Given the description of an element on the screen output the (x, y) to click on. 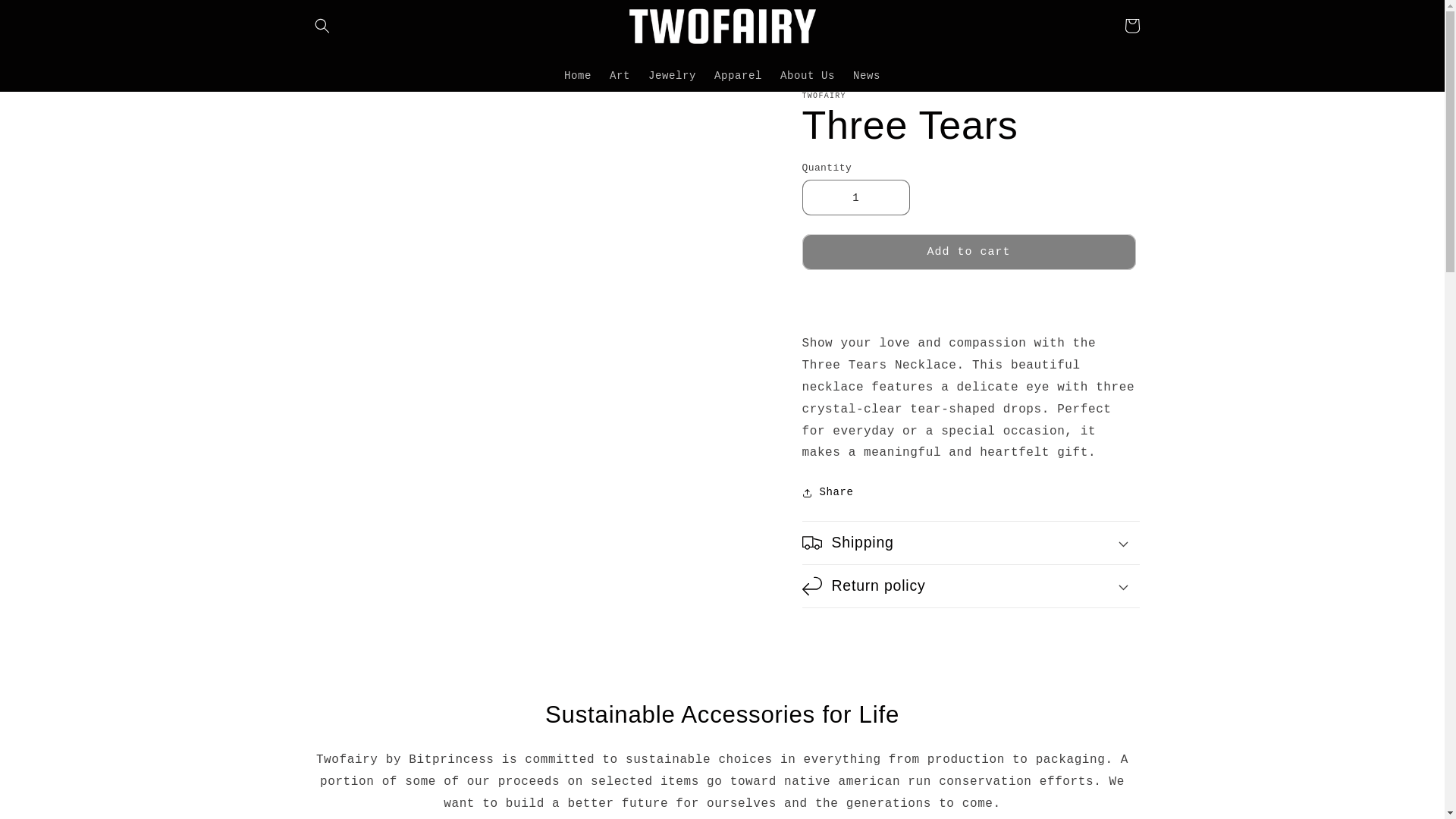
About Us (807, 75)
Home (576, 75)
Apparel (737, 75)
Skip to content (45, 17)
Add to cart (968, 252)
Cart (1131, 25)
Jewelry (671, 75)
Art (619, 75)
1 (856, 197)
Skip to product information (350, 108)
News (866, 75)
